Given the description of an element on the screen output the (x, y) to click on. 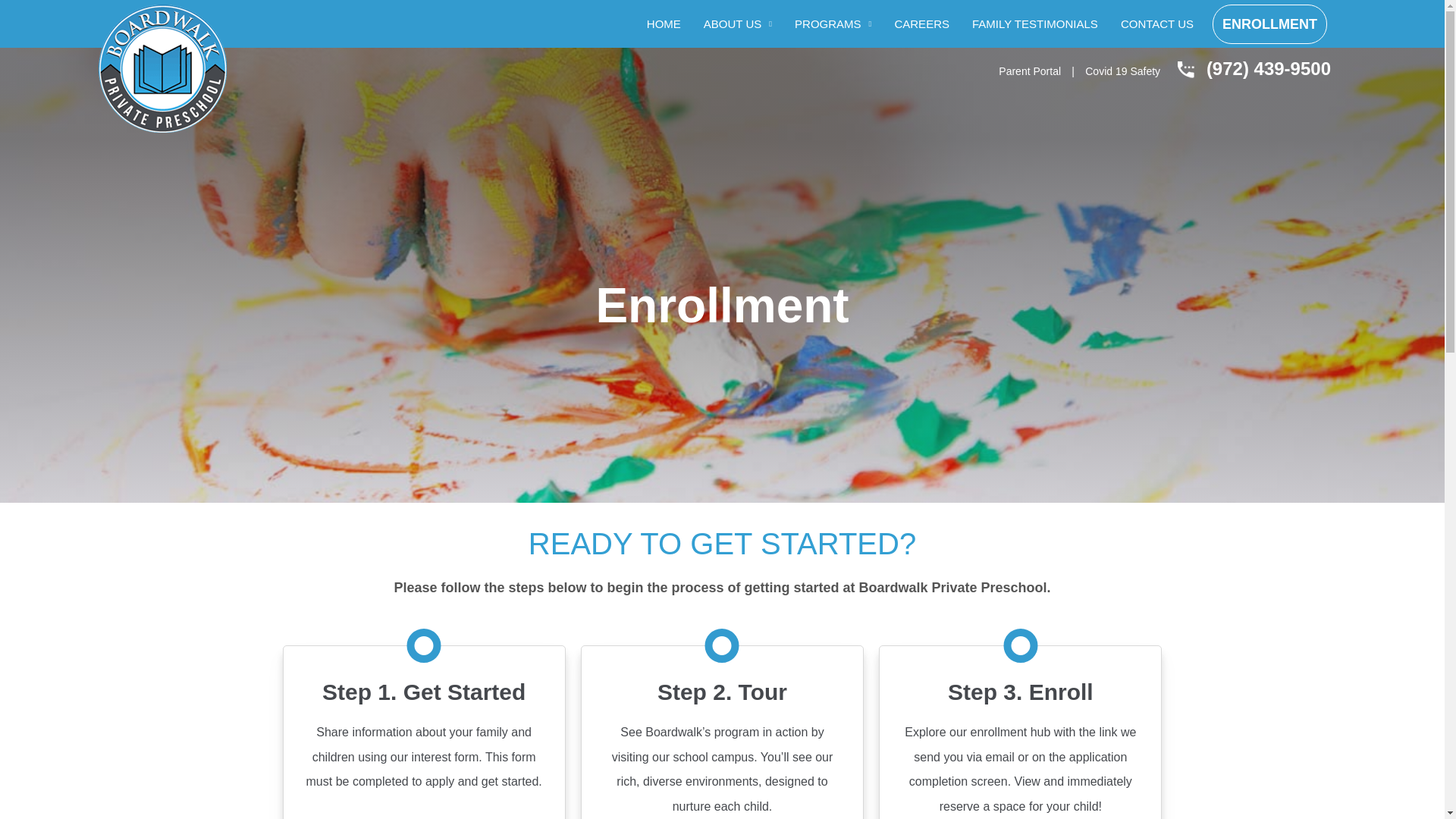
ABOUT US (737, 23)
HOME (663, 23)
PROGRAMS (832, 23)
ENROLLMENT (1269, 24)
Parent Portal (1029, 71)
CONTACT US (1157, 23)
Covid 19 Safety (1122, 71)
CAREERS (921, 23)
FAMILY TESTIMONIALS (1034, 23)
